Given the description of an element on the screen output the (x, y) to click on. 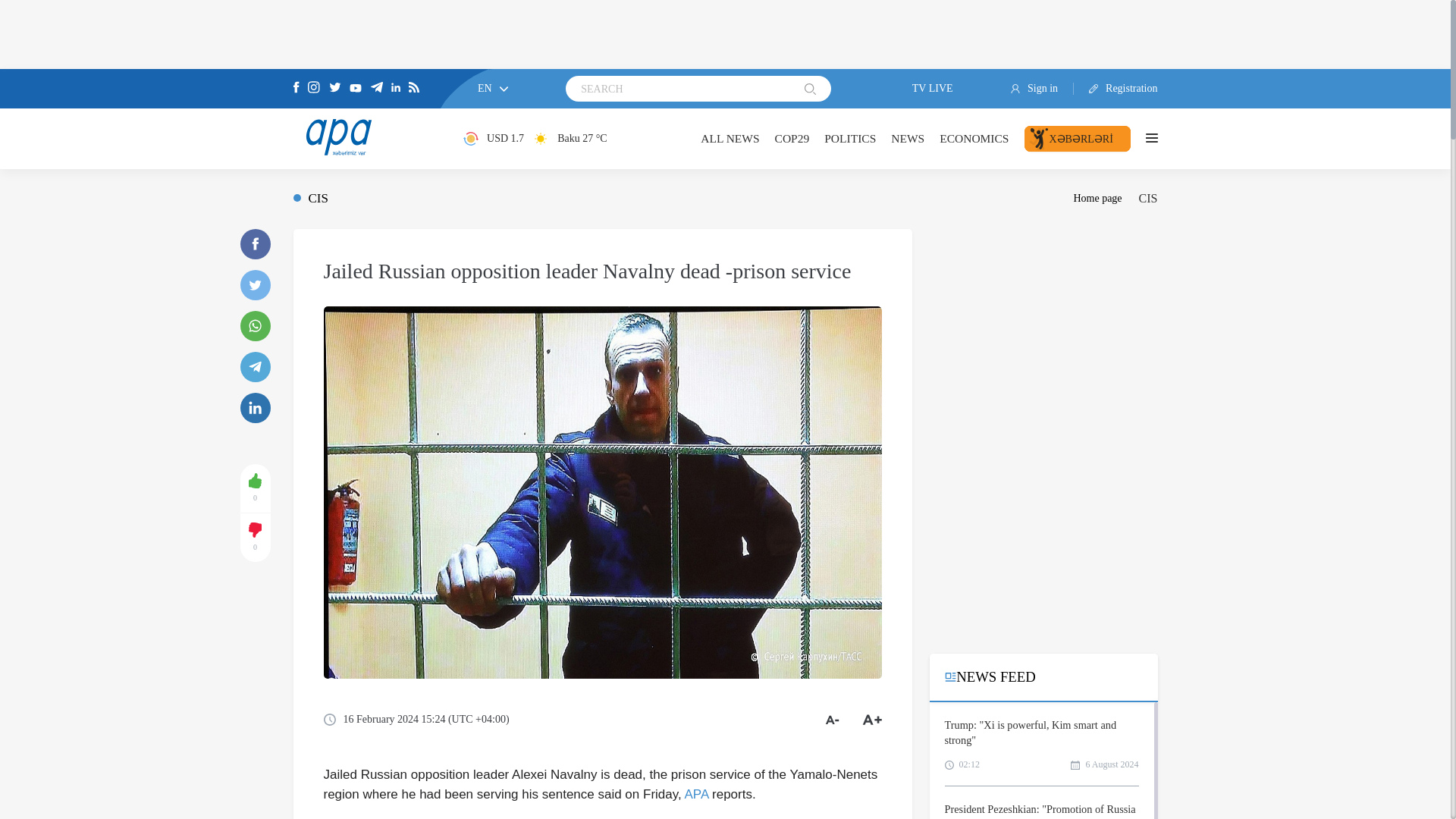
NEWS (907, 138)
POLITICS (850, 138)
TV LIVE (921, 88)
ALL NEWS (729, 138)
USD 1.7 (493, 138)
ECONOMICS (974, 138)
COP29 (791, 138)
Registration (1115, 88)
Sign in (1042, 88)
